Given the description of an element on the screen output the (x, y) to click on. 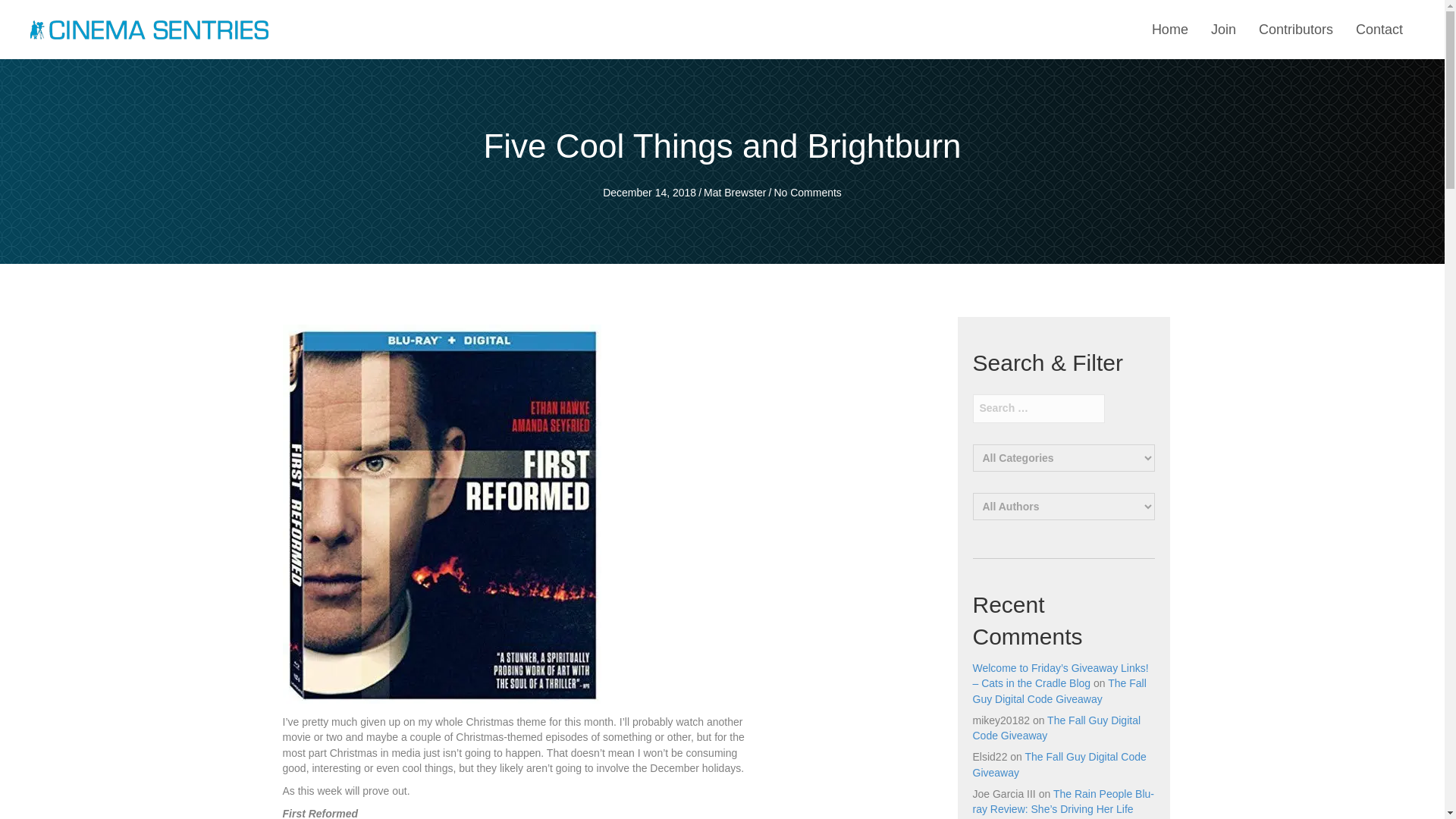
The Fall Guy Digital Code Giveaway (1058, 764)
Mat Brewster (734, 192)
Contact (1379, 29)
Join (1223, 29)
Cinema Sentries (148, 28)
The Fall Guy Digital Code Giveaway (1058, 690)
Contributors (1295, 29)
No Comments (807, 192)
The Fall Guy Digital Code Giveaway (1056, 728)
Home (1169, 29)
